Given the description of an element on the screen output the (x, y) to click on. 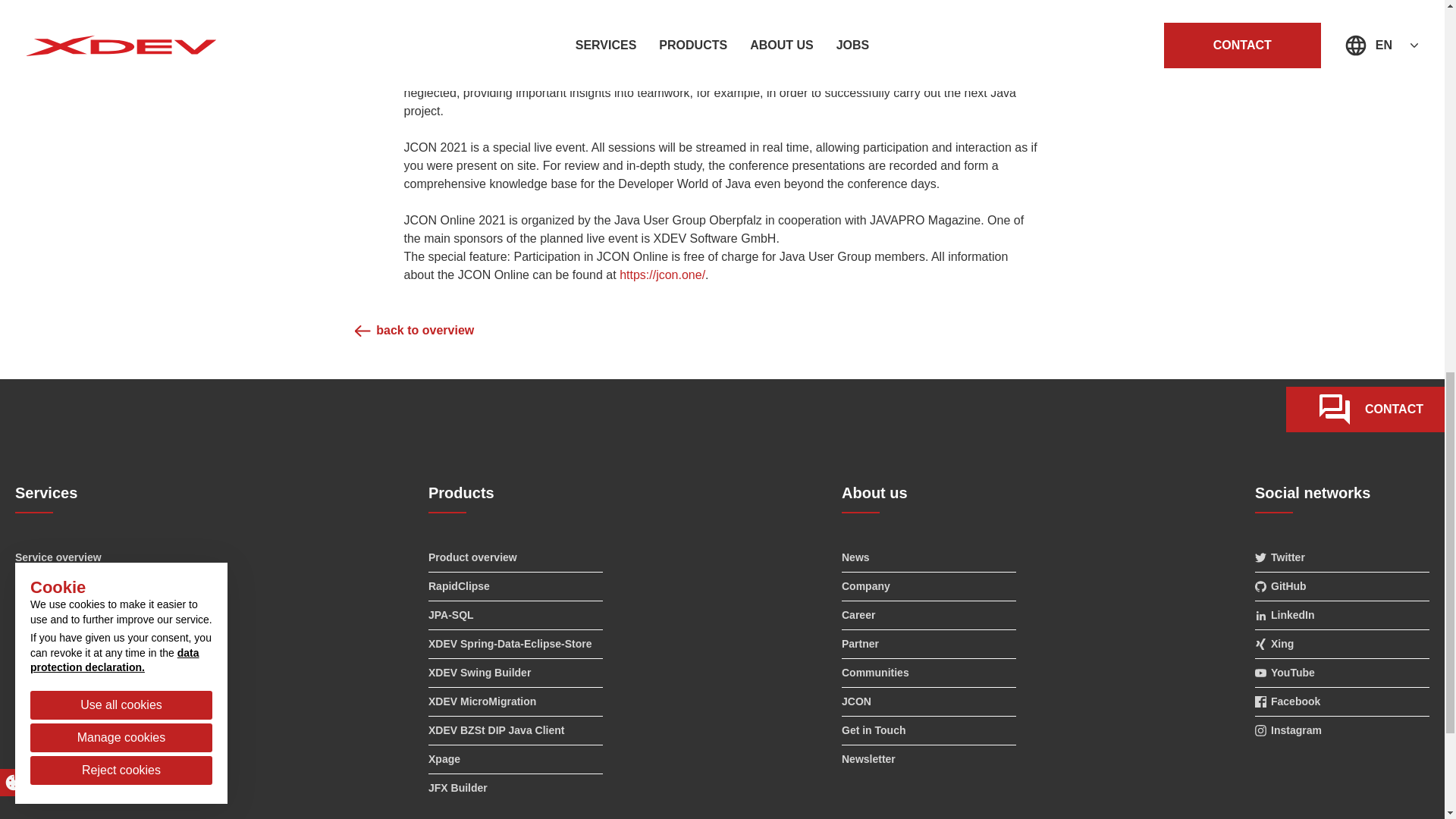
XDEV Swing Builder (515, 673)
XDEV BZSt DIP Java Client (515, 730)
Service overview (101, 557)
Xpage (515, 759)
XDEV MicroMigration (515, 701)
Support (101, 673)
Services (101, 499)
JPA-SQL (515, 615)
About us (928, 499)
RapidClipse (515, 586)
